Given the description of an element on the screen output the (x, y) to click on. 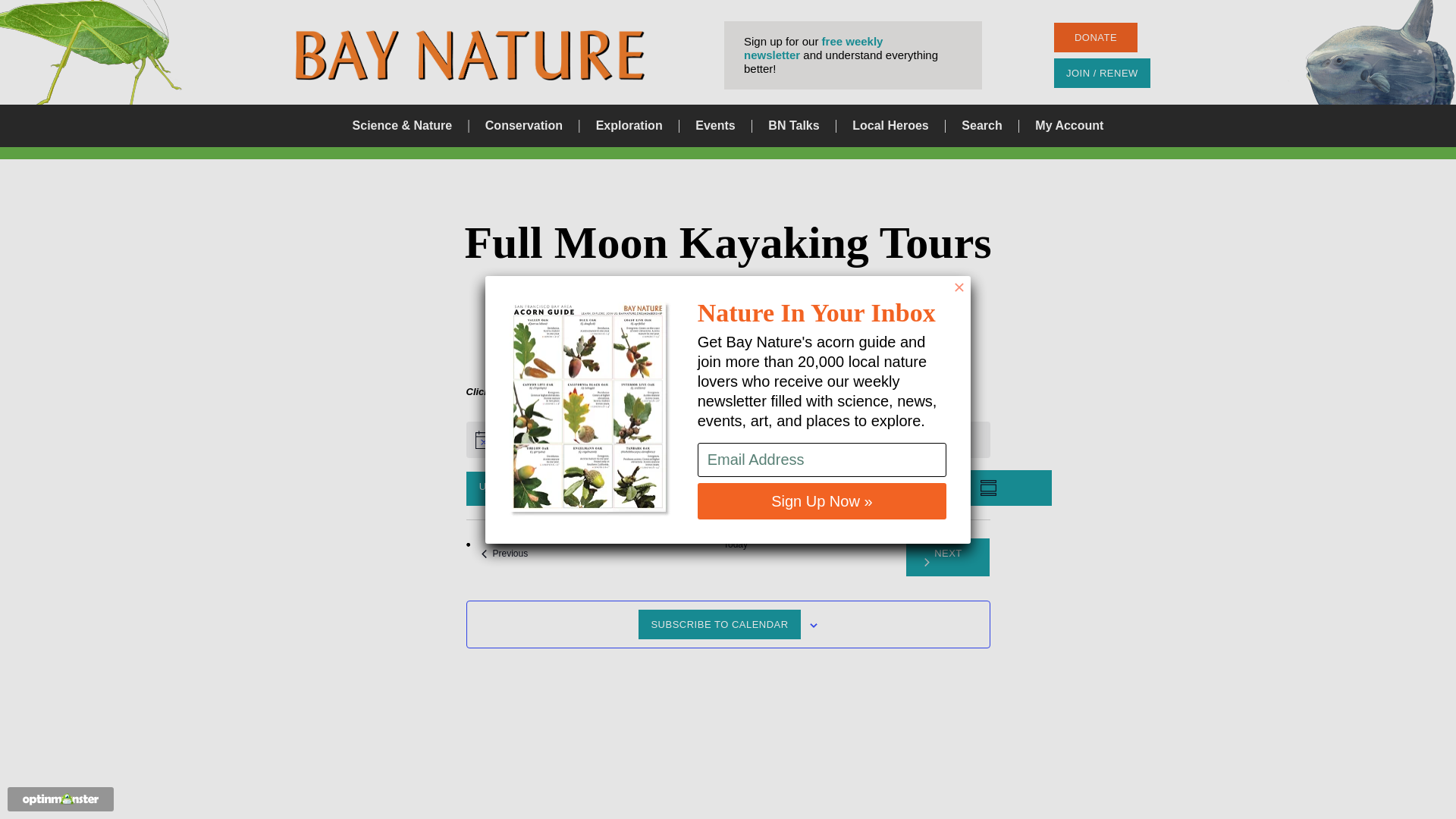
Click to toggle datepicker (503, 553)
Search (506, 488)
Next Events (885, 409)
Follow by Email (947, 557)
2024-07-21 (738, 303)
SUMMARY (980, 125)
Previous Events (1009, 488)
UPCOMING (503, 553)
Click here to add an event to our calendar. (506, 488)
BN Talks (564, 390)
Local Heroes (947, 557)
Twitter (793, 125)
